Given the description of an element on the screen output the (x, y) to click on. 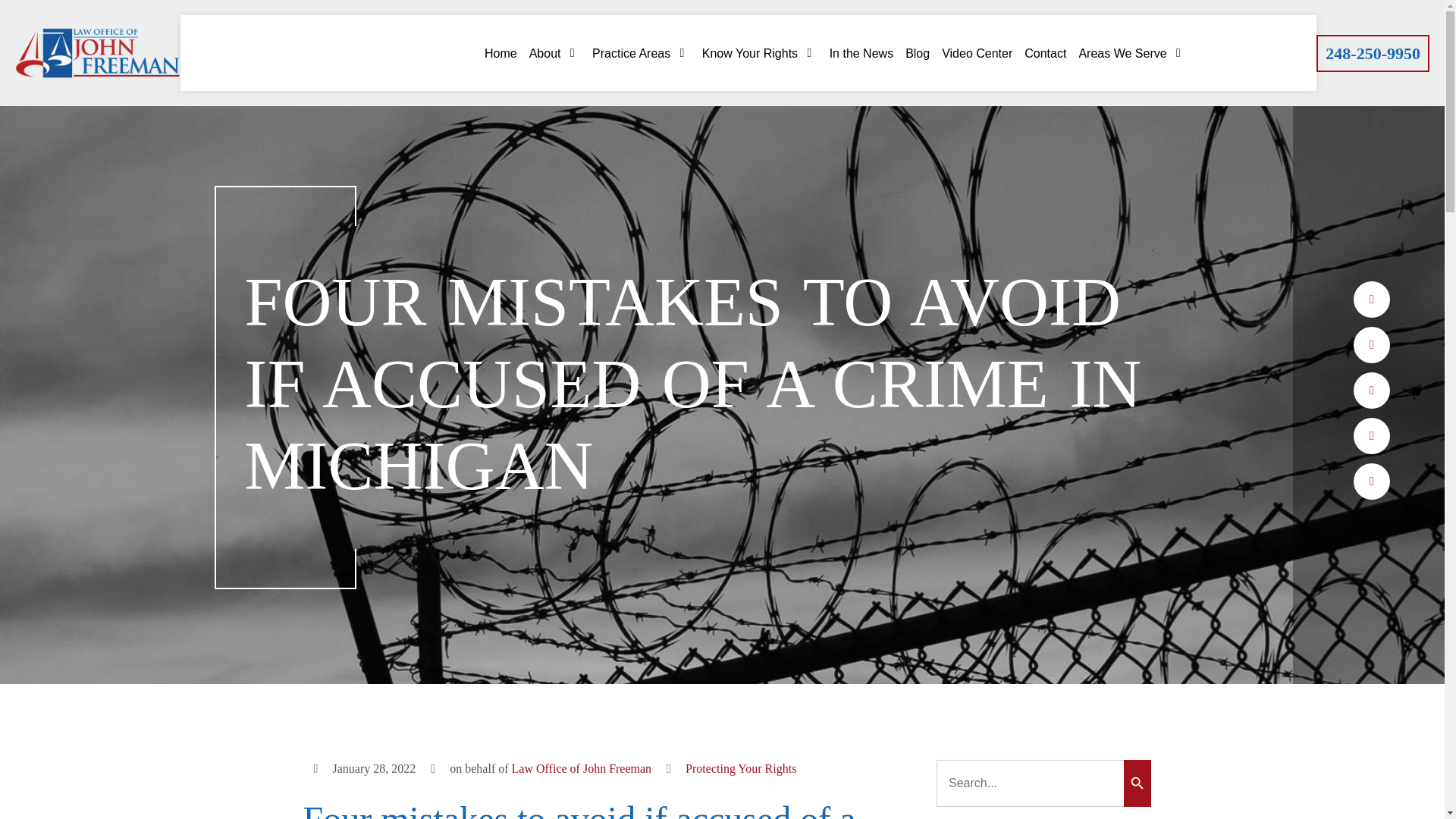
Practice Areas (641, 53)
Home (500, 53)
About (554, 53)
